Given the description of an element on the screen output the (x, y) to click on. 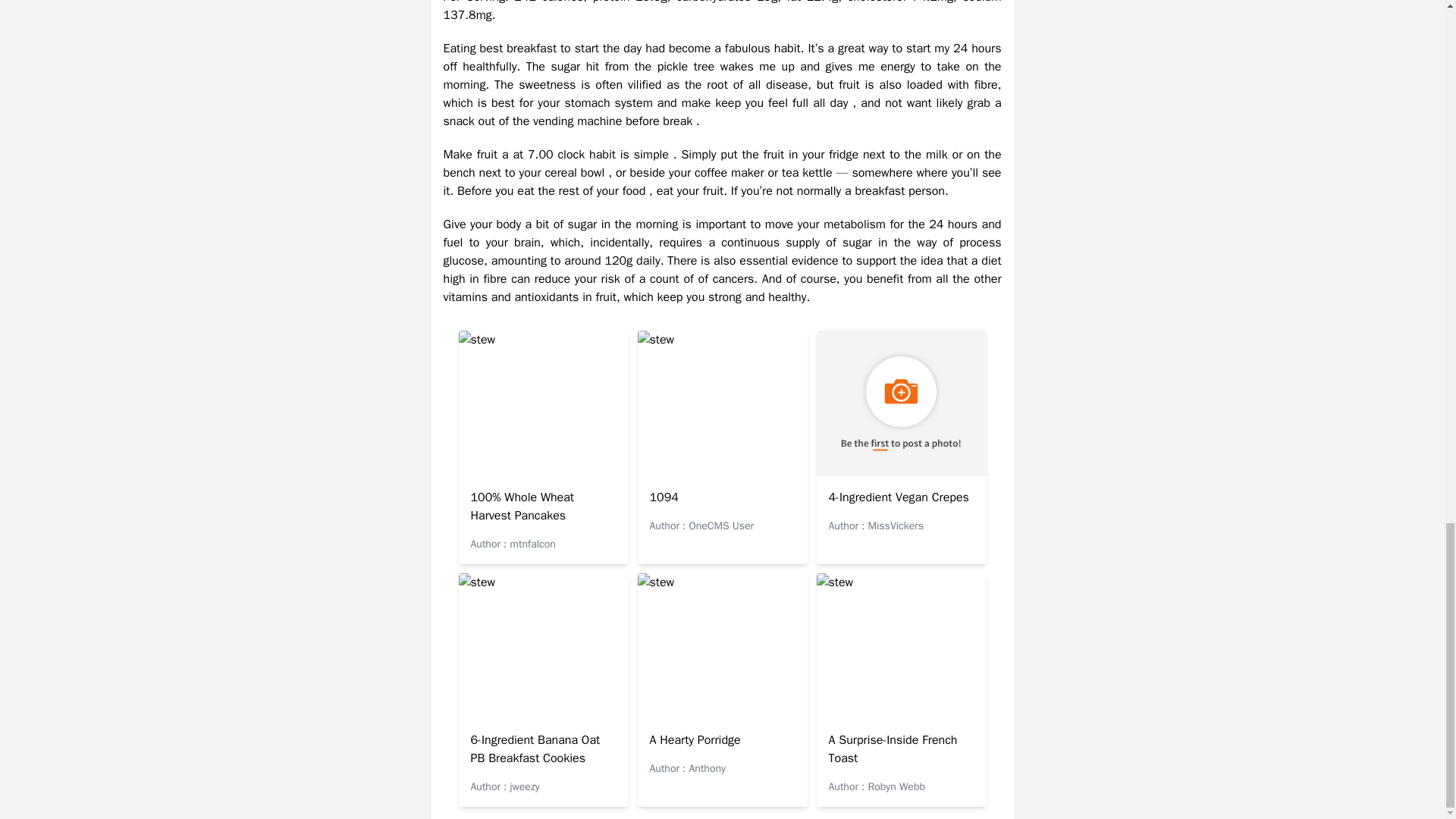
6-Ingredient Banana Oat PB Breakfast Cookies (534, 748)
1094 (663, 497)
A Hearty Porridge (694, 739)
4-Ingredient Vegan Crepes (898, 497)
A Surprise-Inside French Toast (892, 748)
